Given the description of an element on the screen output the (x, y) to click on. 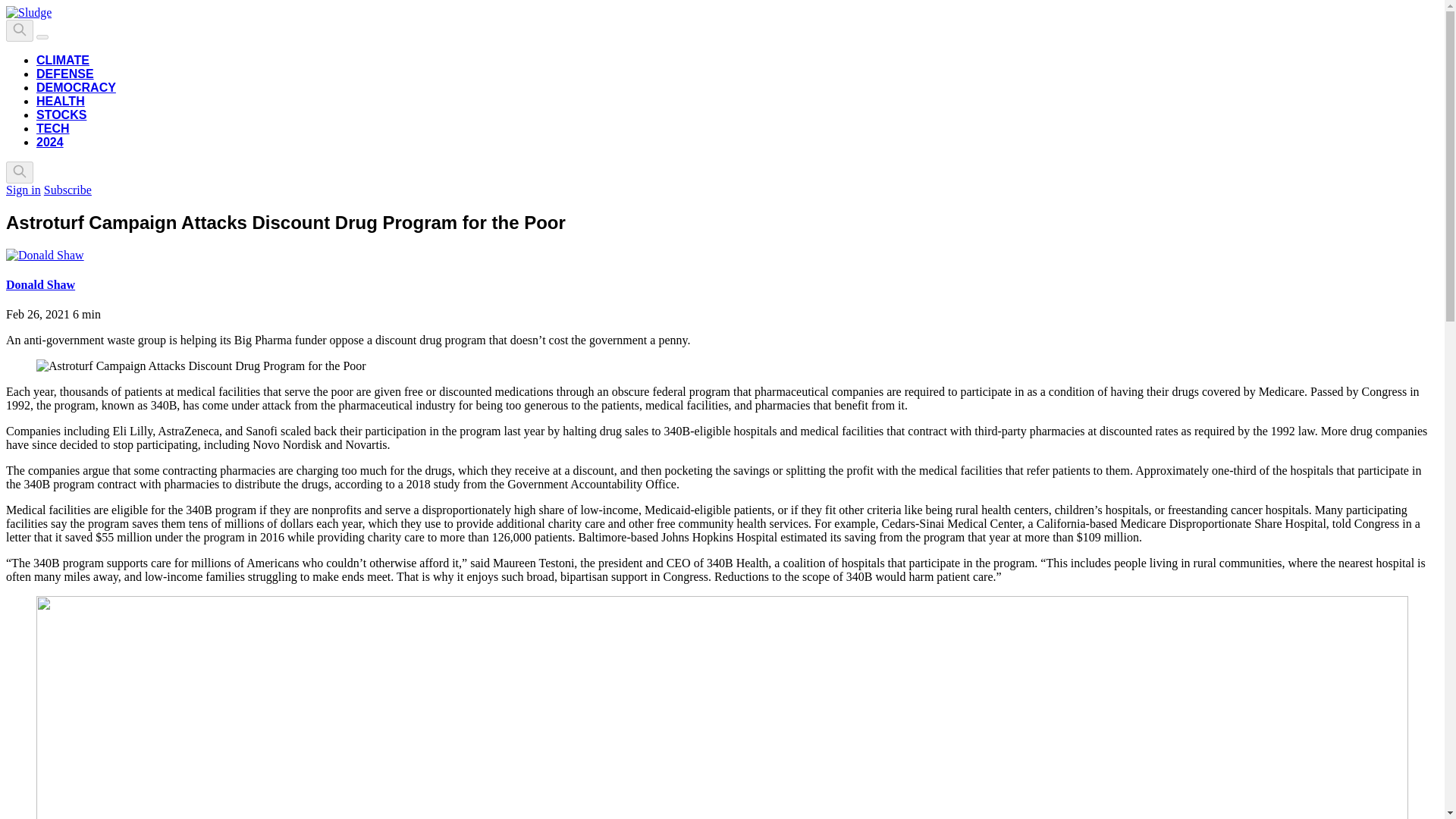
HEALTH (60, 101)
Sign in (22, 189)
CLIMATE (62, 60)
STOCKS (60, 114)
TECH (52, 128)
Donald Shaw (40, 284)
DEMOCRACY (76, 87)
DEFENSE (65, 73)
Subscribe (67, 189)
2024 (50, 141)
